Given the description of an element on the screen output the (x, y) to click on. 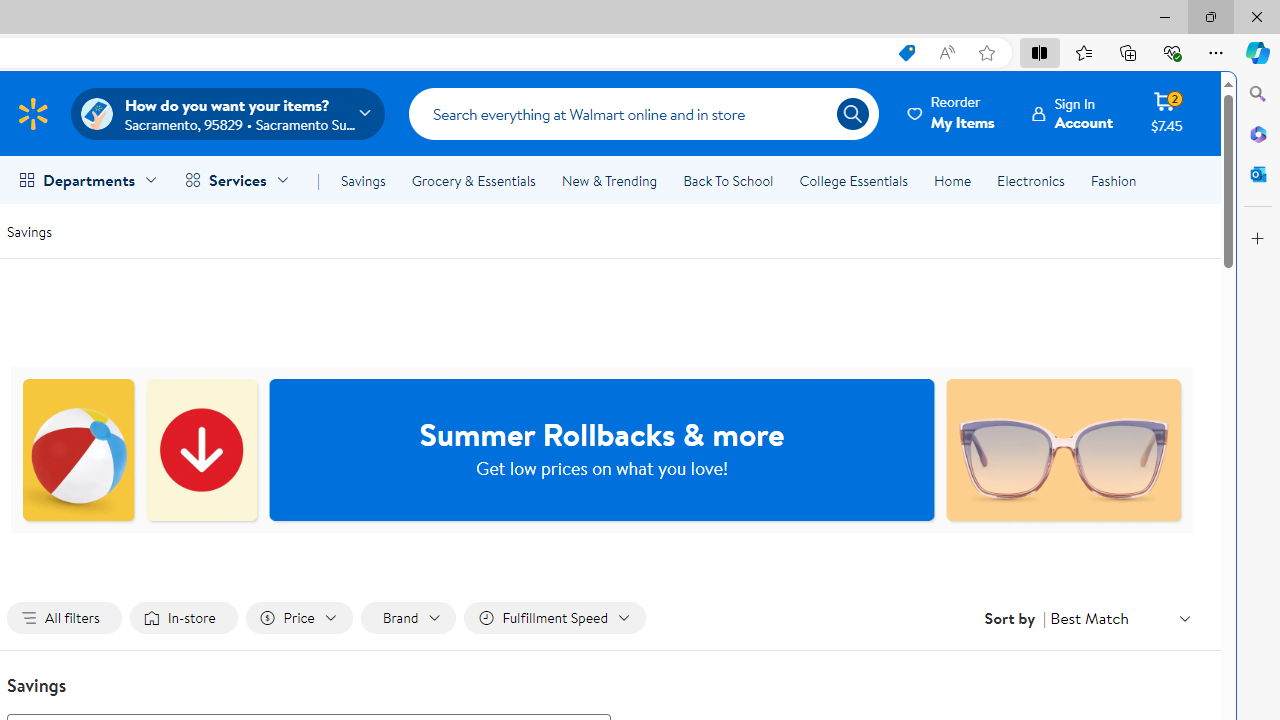
Fashion (1113, 180)
Customize (1258, 239)
Home (952, 180)
Close (1256, 16)
Search (644, 113)
Grocery & Essentials (473, 180)
Grocery & Essentials (473, 180)
This site has coupons! Shopping in Microsoft Edge, 7 (906, 53)
Read aloud this page (Ctrl+Shift+U) (946, 53)
Back To School (728, 180)
Sign InAccount (1072, 113)
Add this page to favorites (Ctrl+D) (986, 53)
